Given the description of an element on the screen output the (x, y) to click on. 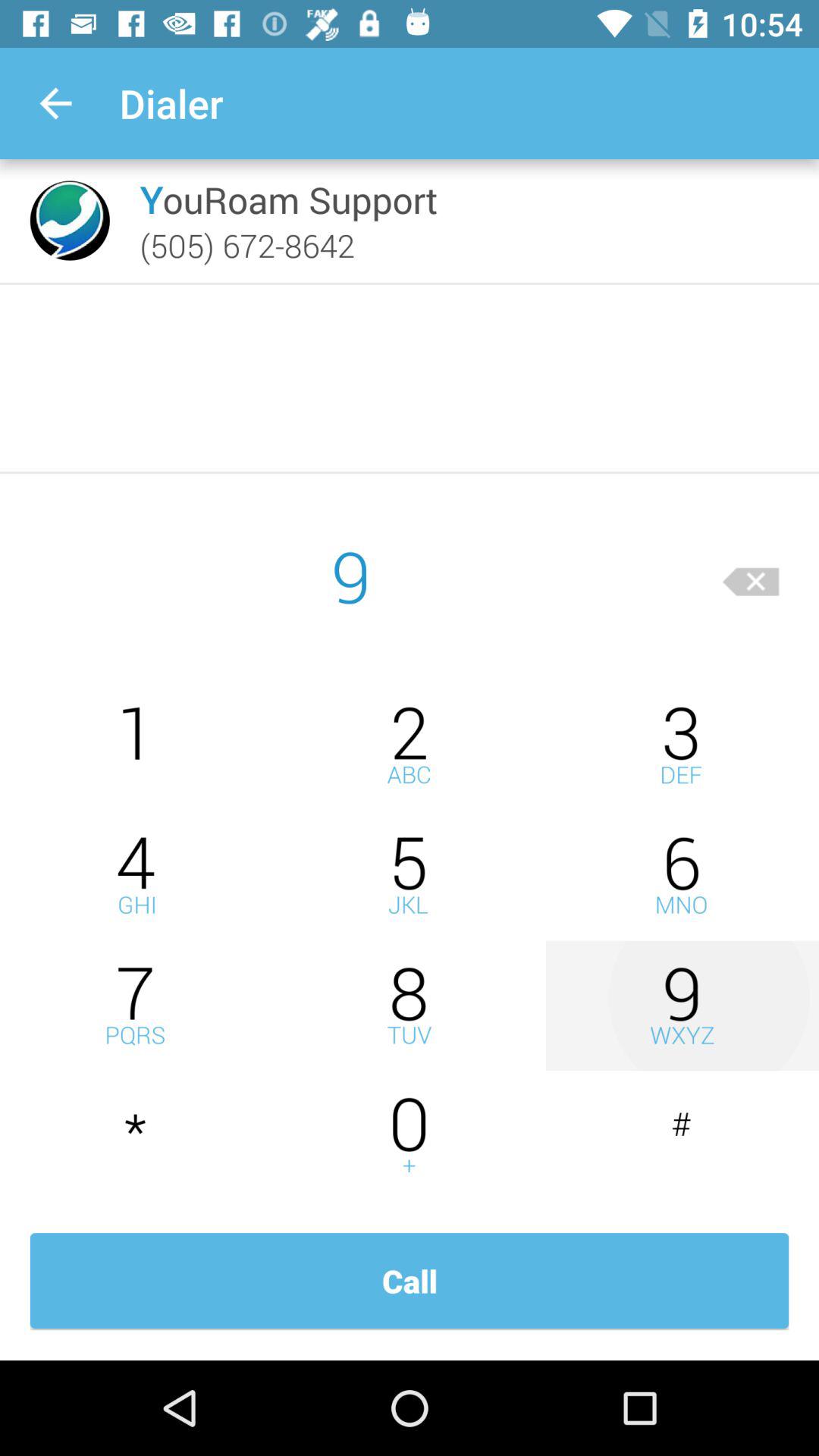
jump until youroam support icon (288, 199)
